Given the description of an element on the screen output the (x, y) to click on. 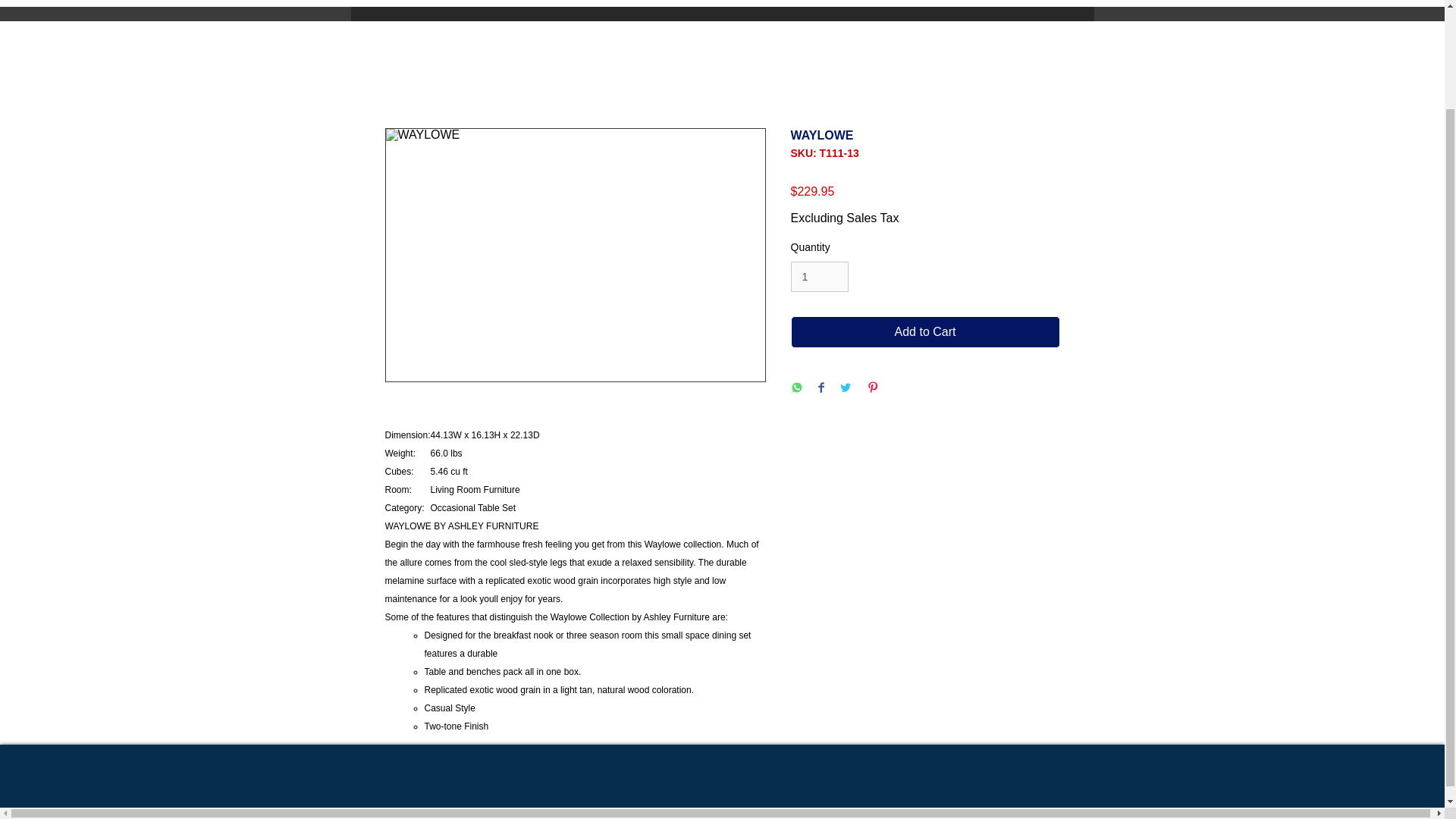
1 (818, 276)
Add to Cart (924, 332)
